Given the description of an element on the screen output the (x, y) to click on. 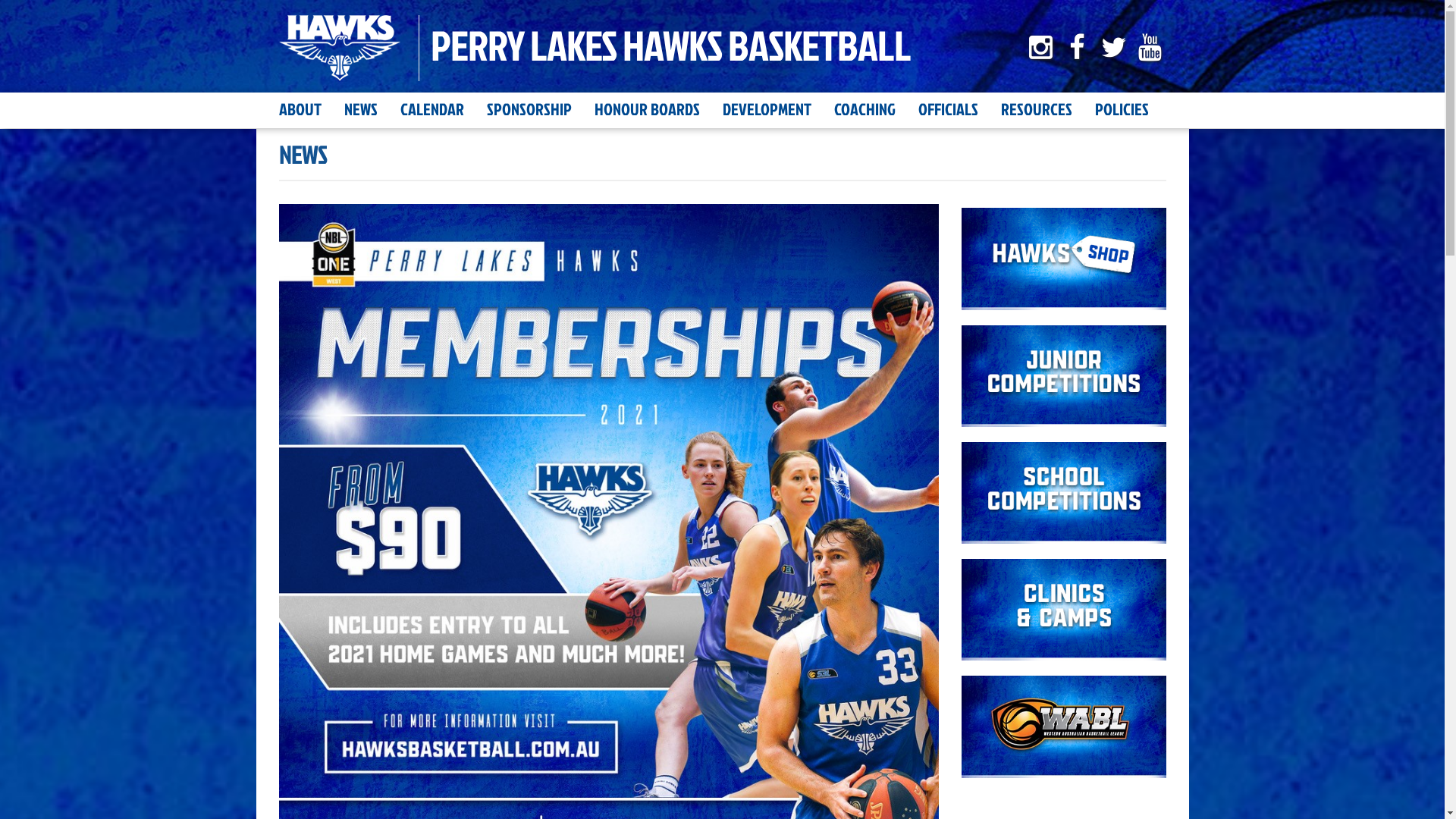
f Element type: text (1076, 47)
POLICIES Element type: text (1121, 108)
SPONSORSHIP Element type: text (528, 108)
ABOUT Element type: text (300, 108)
i Element type: text (1039, 47)
NEWS Element type: text (360, 108)
t Element type: text (1112, 47)
COACHING Element type: text (864, 108)
RESOURCES Element type: text (1036, 108)
HONOUR BOARDS Element type: text (646, 108)
y Element type: text (1148, 47)
DEVELOPMENT Element type: text (765, 108)
OFFICIALS Element type: text (947, 108)
CALENDAR Element type: text (432, 108)
